Given the description of an element on the screen output the (x, y) to click on. 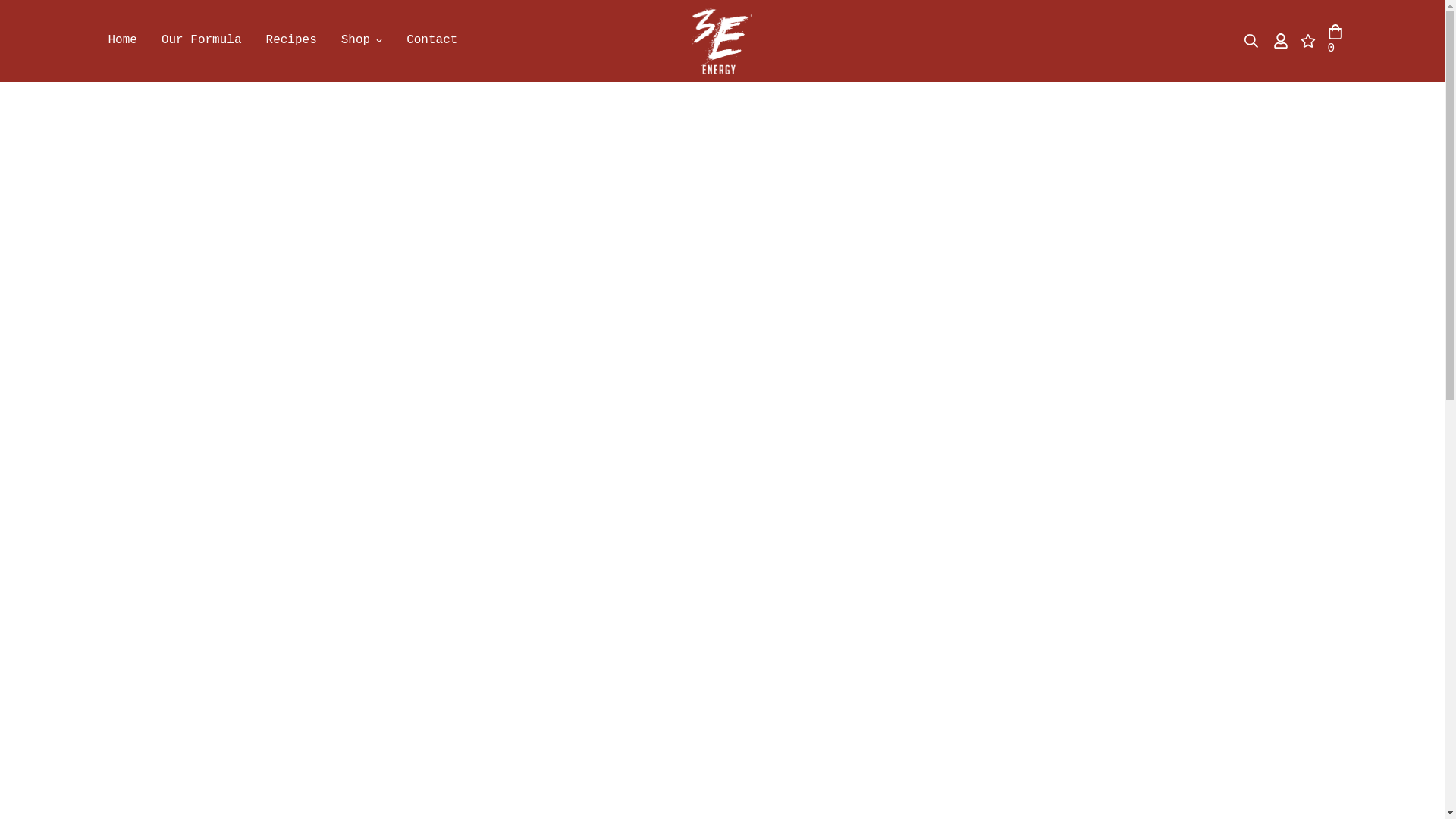
Our Formula Element type: text (201, 40)
Recipes Element type: text (291, 40)
Shop Element type: text (361, 40)
Contact Element type: text (431, 40)
0 Element type: text (1334, 40)
3Eenergy.com Element type: hover (721, 40)
Home Element type: text (121, 40)
